Given the description of an element on the screen output the (x, y) to click on. 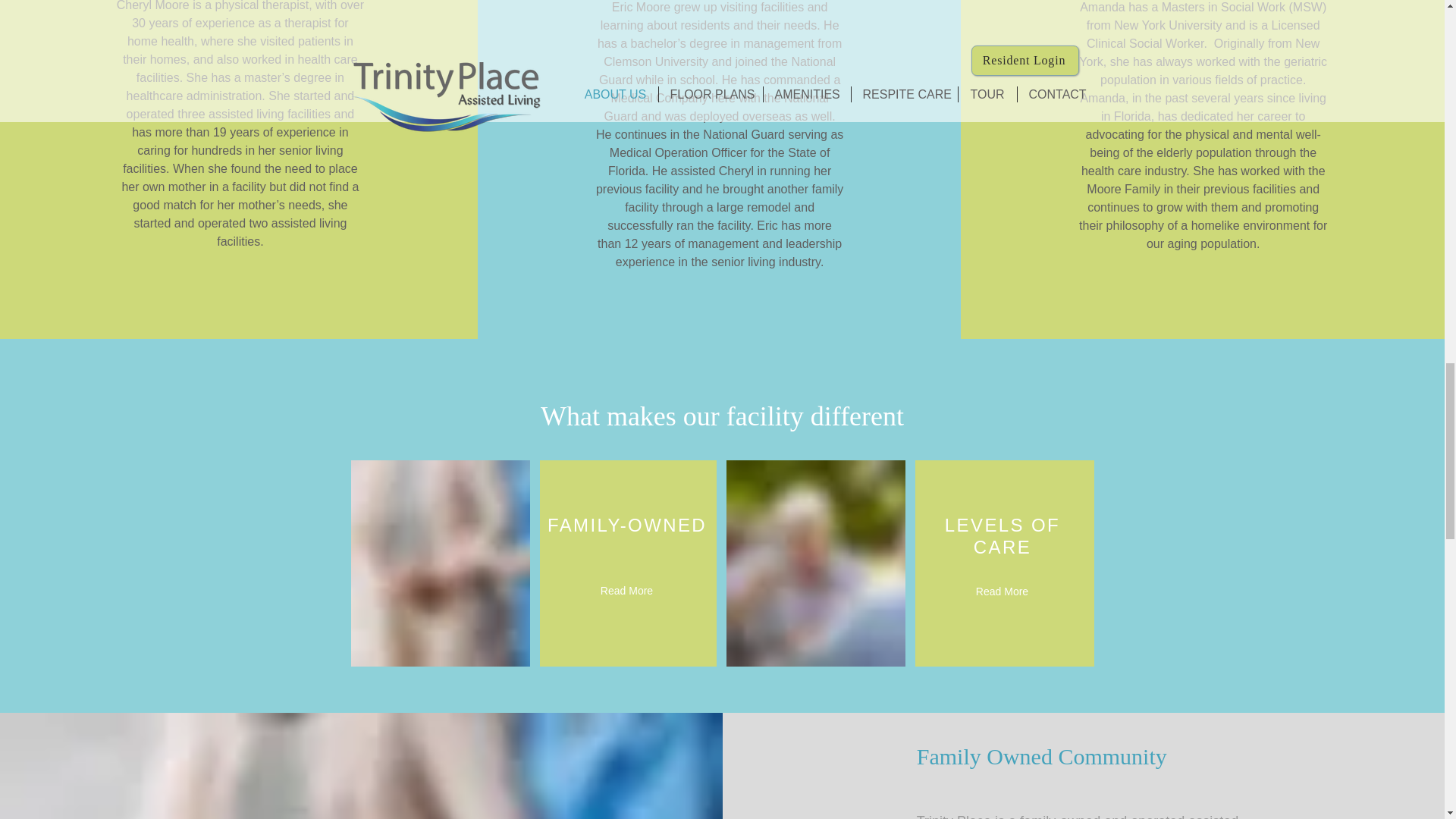
Read More (1002, 592)
Read More (626, 591)
